Given the description of an element on the screen output the (x, y) to click on. 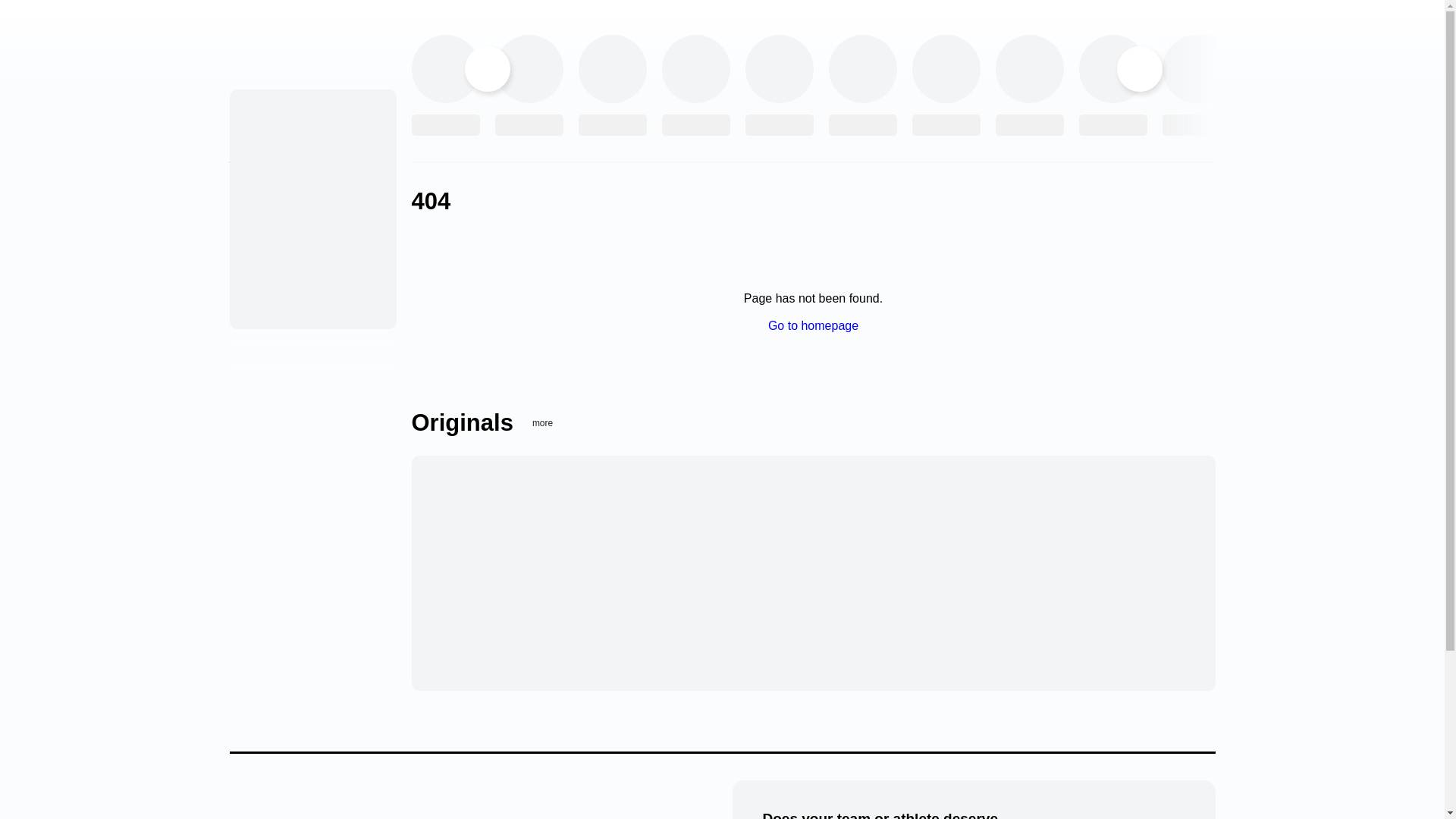
Search (246, 315)
Originals (251, 134)
Go to homepage (813, 325)
More Sports (259, 195)
Favorites (252, 225)
Watch (244, 164)
Home (252, 104)
Account (249, 255)
Submit a story (265, 286)
more (552, 422)
